Given the description of an element on the screen output the (x, y) to click on. 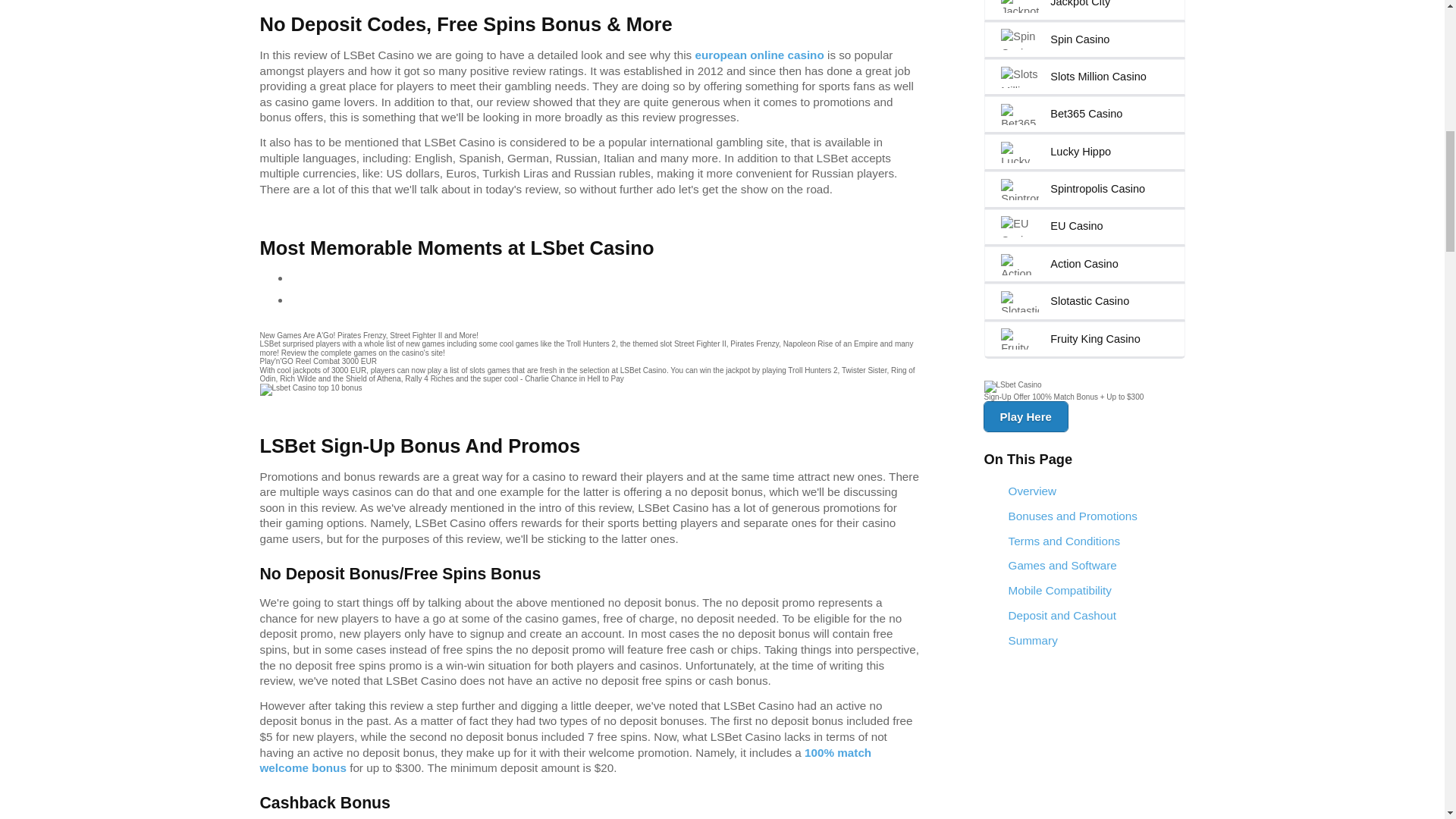
Bonuses and Promotions (1084, 516)
Games and Software (1084, 565)
Terms and Conditions (1084, 540)
Deposit and Cashout (1084, 615)
Summary (1084, 640)
Mobile Compatibility (1084, 590)
Overview (1084, 491)
